Given the description of an element on the screen output the (x, y) to click on. 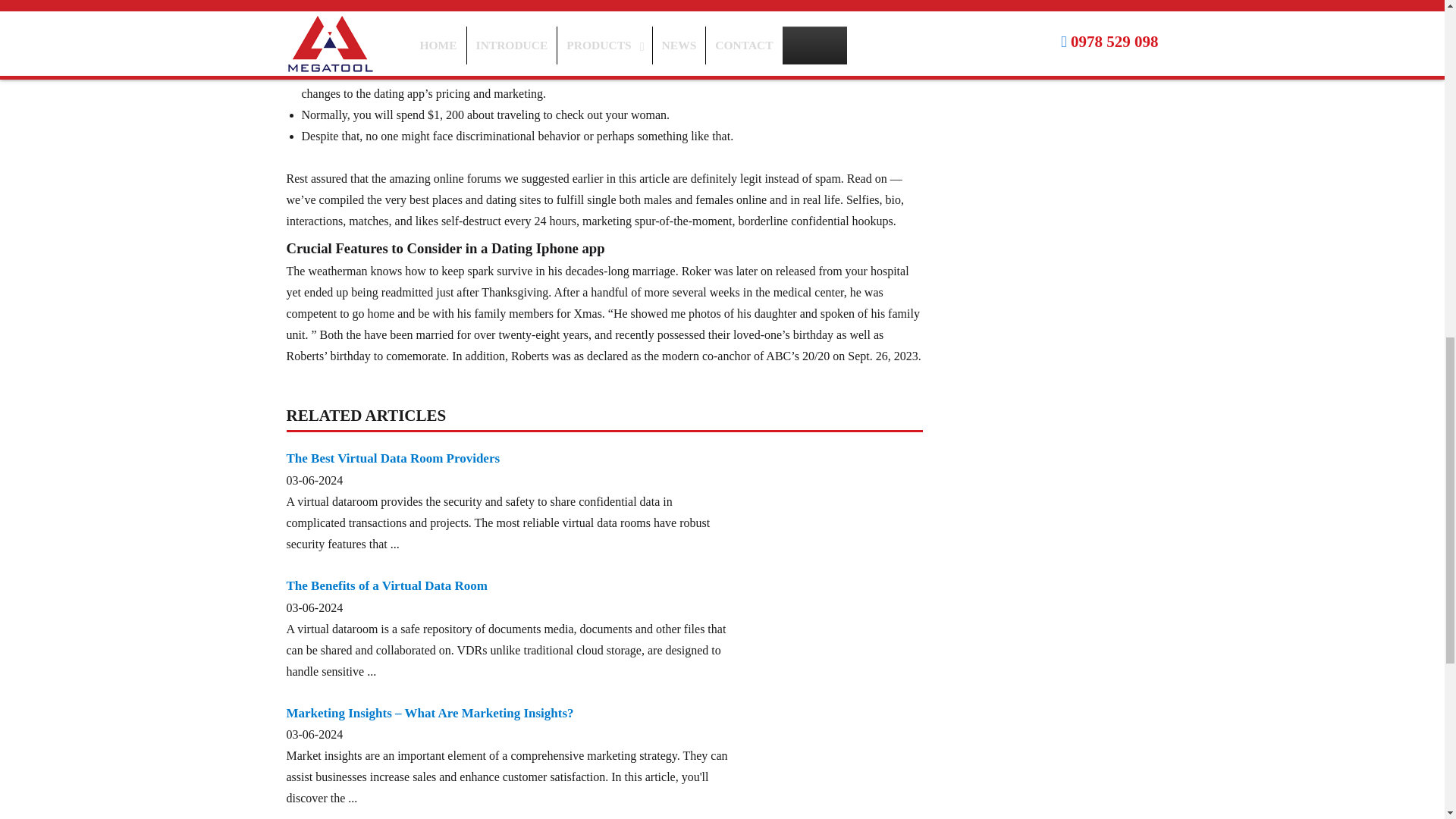
The Benefits of a Virtual Data Room (386, 585)
The Benefits of a Virtual Data Room (386, 585)
The Best Virtual Data Room Providers (393, 458)
The Best Virtual Data Room Providers (393, 458)
